Given the description of an element on the screen output the (x, y) to click on. 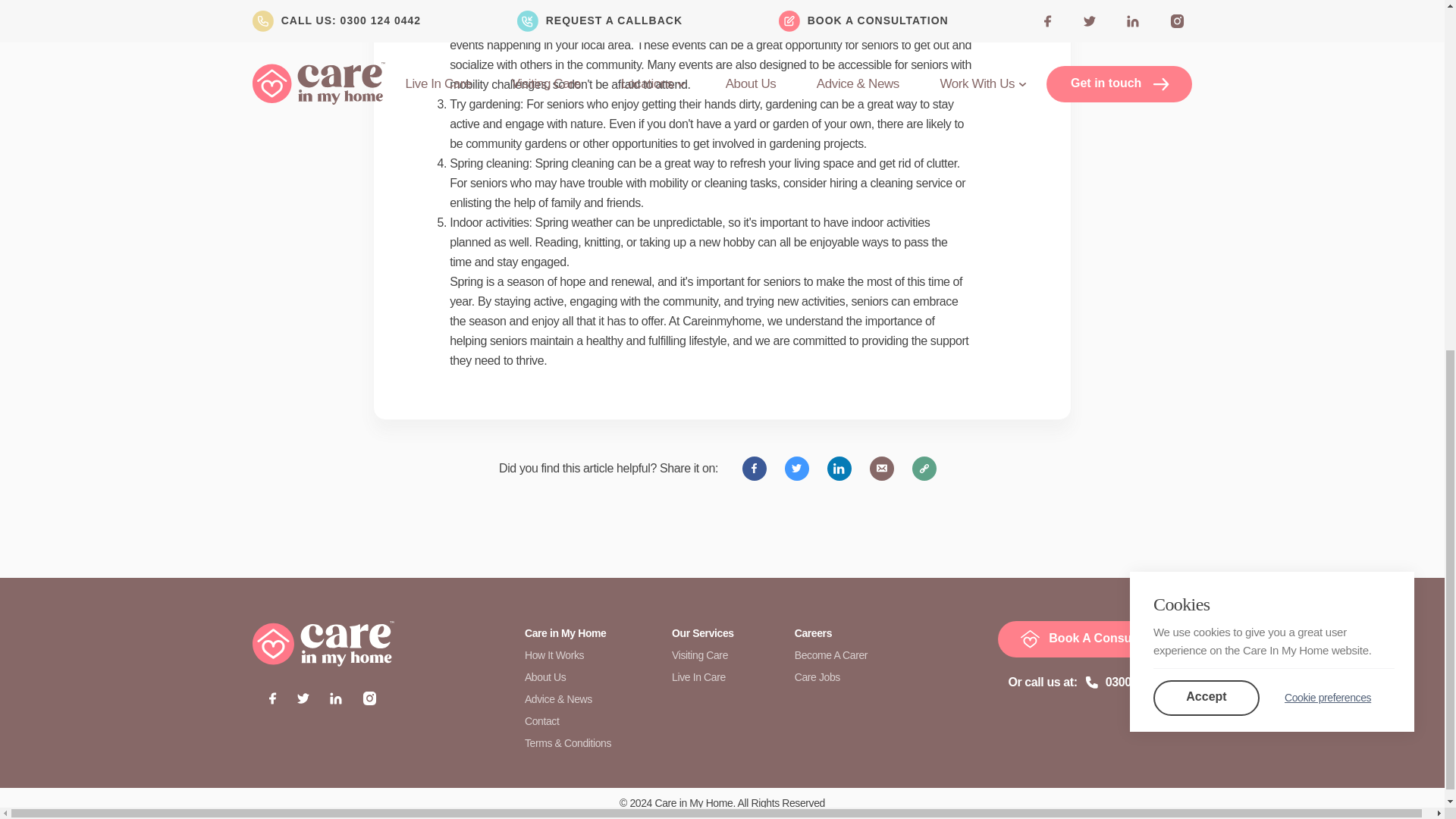
About Us (545, 676)
How It Works (553, 654)
